Given the description of an element on the screen output the (x, y) to click on. 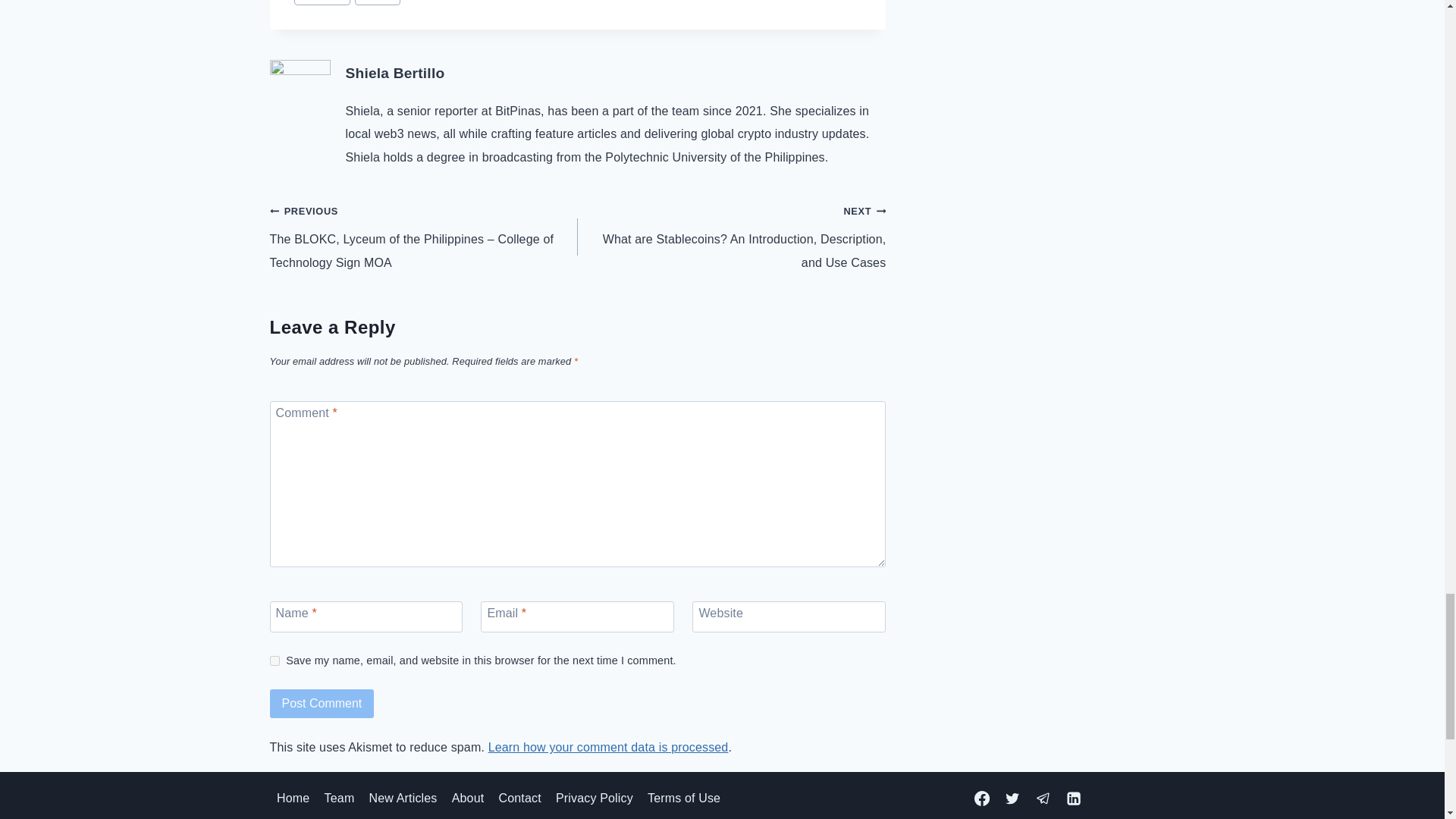
Financie (322, 2)
Post Comment (321, 703)
Shiela Bertillo (395, 73)
yes (274, 660)
Post Comment (321, 703)
Japan (377, 2)
Posts by Shiela Bertillo (395, 73)
Learn how your comment data is processed (608, 747)
